Given the description of an element on the screen output the (x, y) to click on. 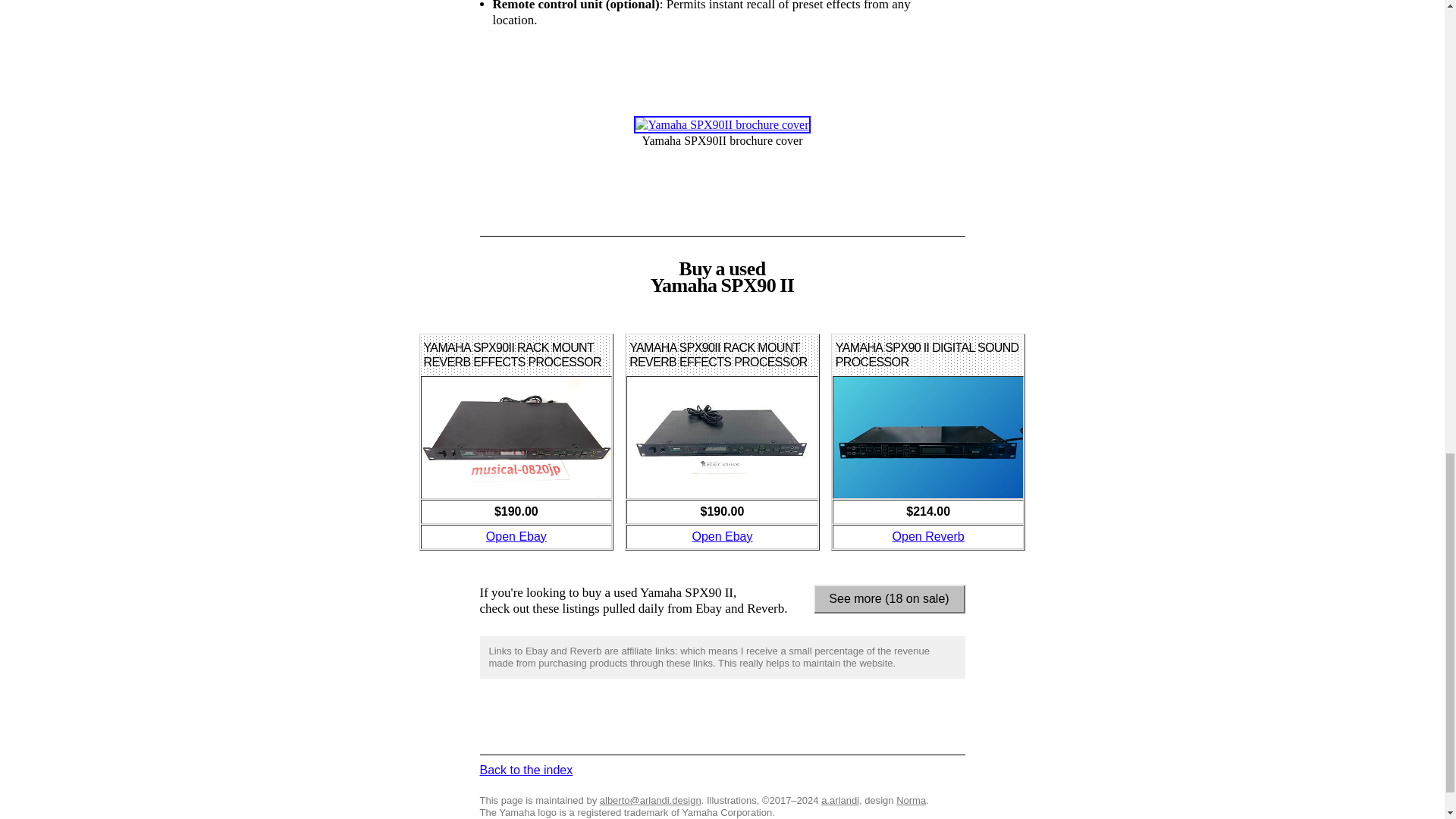
Norma (911, 799)
Open Ebay (721, 535)
Open Ebay (516, 535)
Open Reverb (927, 535)
Yamaha SPX90 II Digital Sound Processor (927, 535)
a.arlandi (840, 799)
Back to the index (525, 769)
